Given the description of an element on the screen output the (x, y) to click on. 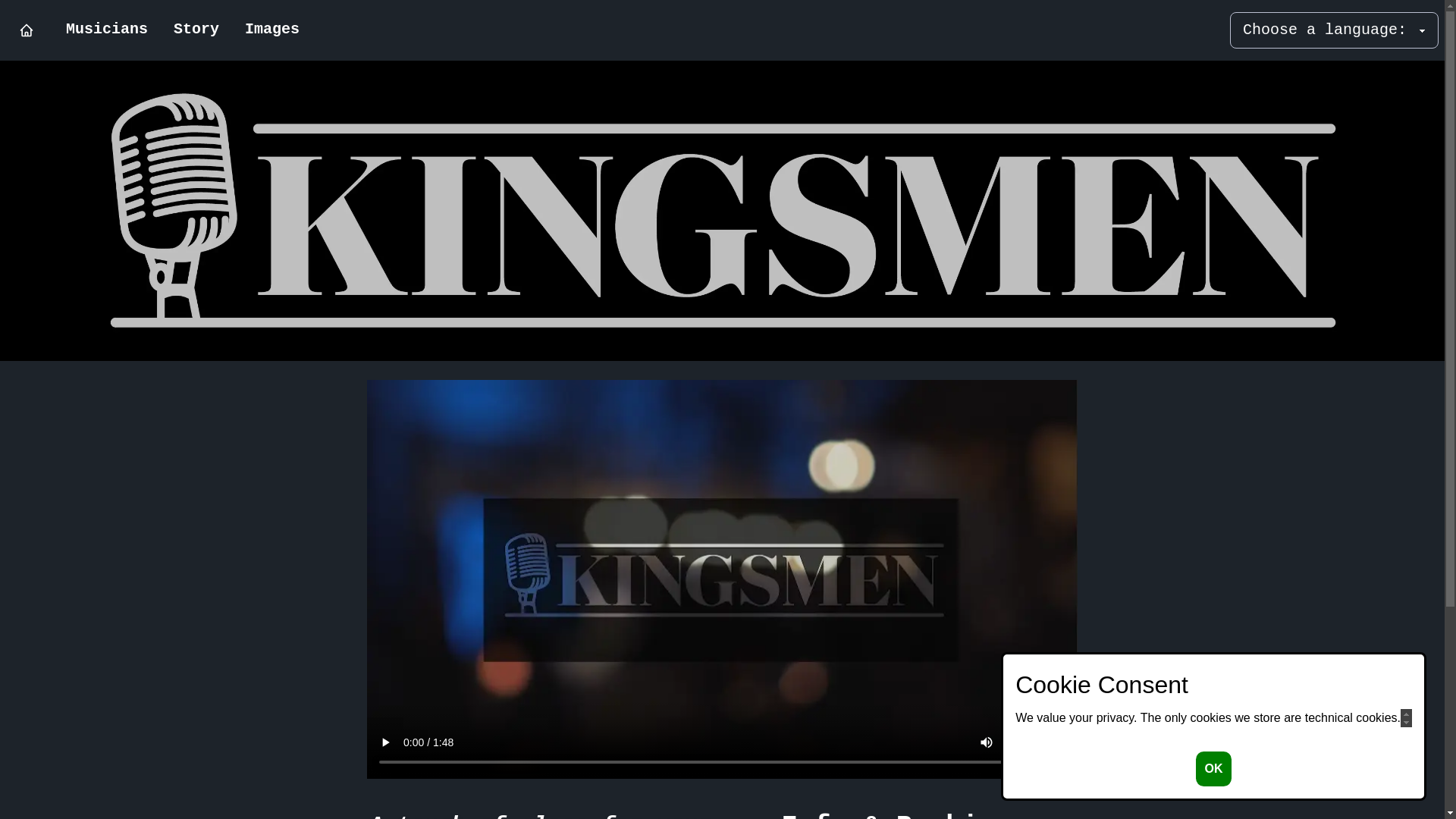
Musicians Element type: text (106, 30)
OK Element type: text (1212, 768)
Images Element type: text (272, 30)
Story Element type: text (196, 30)
